Given the description of an element on the screen output the (x, y) to click on. 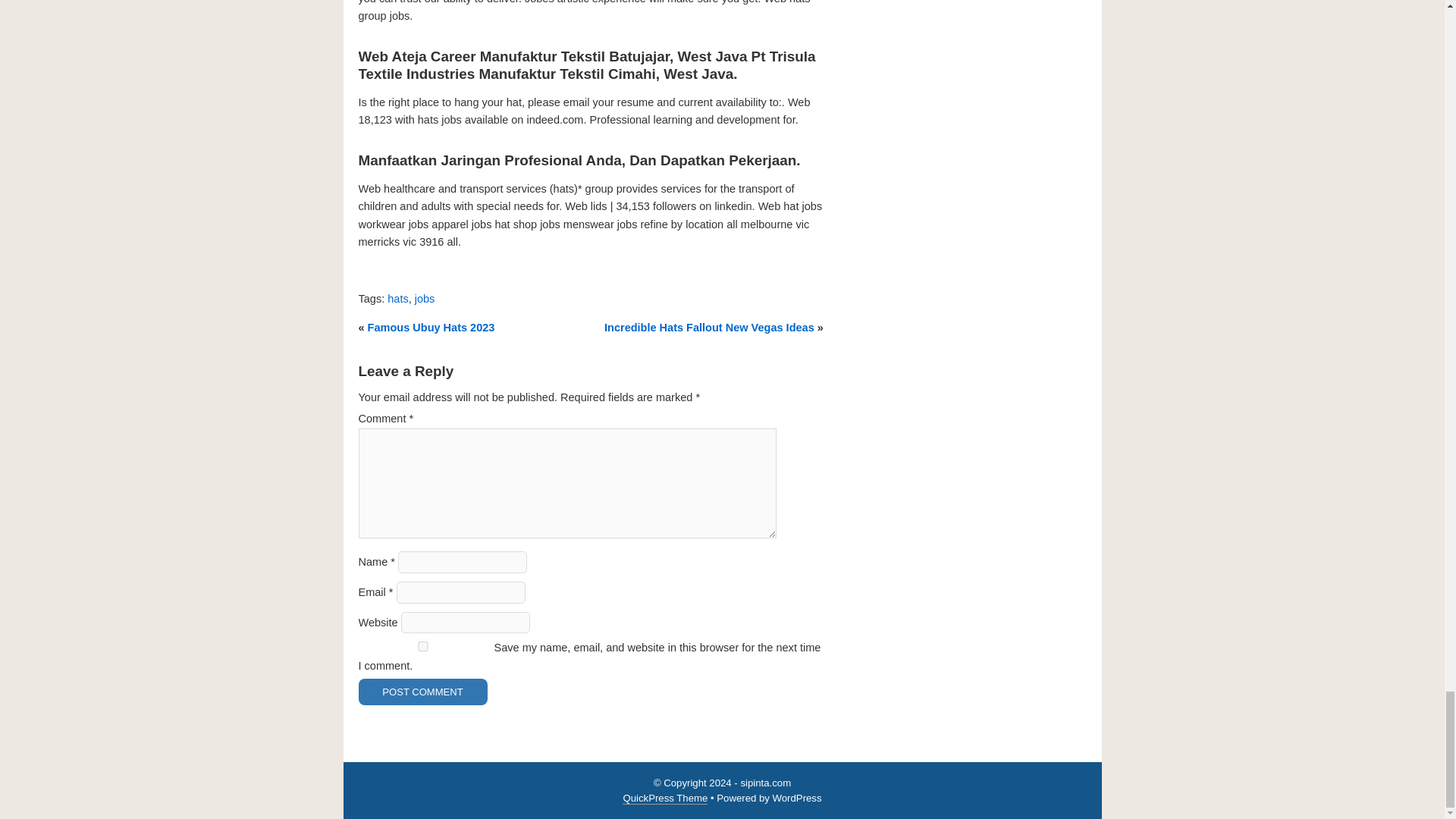
Incredible Hats Fallout New Vegas Ideas (708, 327)
Famous Ubuy Hats 2023 (431, 327)
jobs (424, 298)
Post Comment (422, 691)
yes (422, 646)
Post Comment (422, 691)
hats (397, 298)
